Given the description of an element on the screen output the (x, y) to click on. 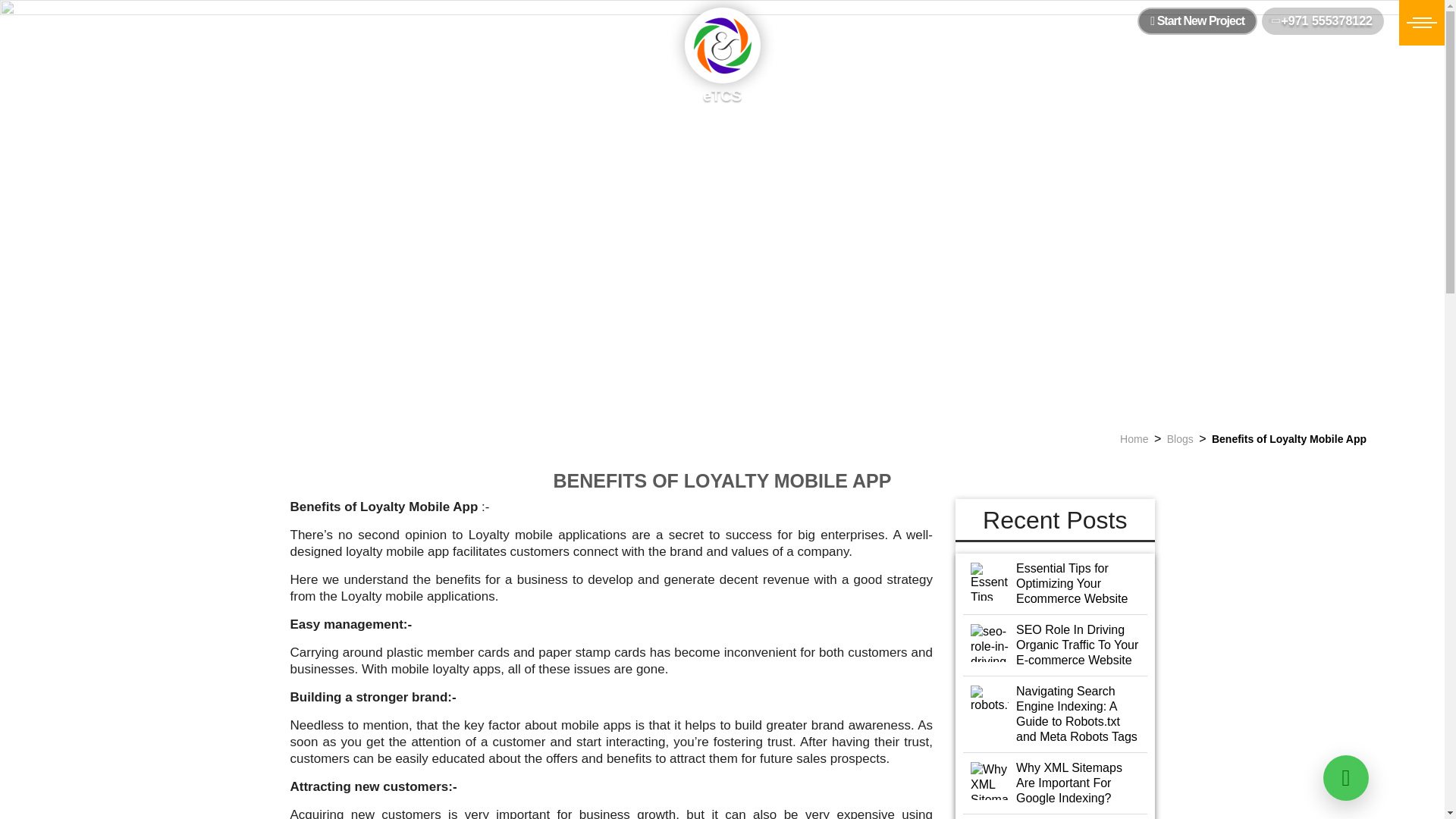
Go to the Blogs category archives. (1180, 439)
Why XML Sitemaps Are Important For Google Indexing? (1055, 782)
Essential Tips for Optimizing Your Ecommerce Website (1055, 583)
Blogs (1180, 439)
Start New Project (1197, 21)
Go to Home (1133, 439)
Home (1133, 439)
